Given the description of an element on the screen output the (x, y) to click on. 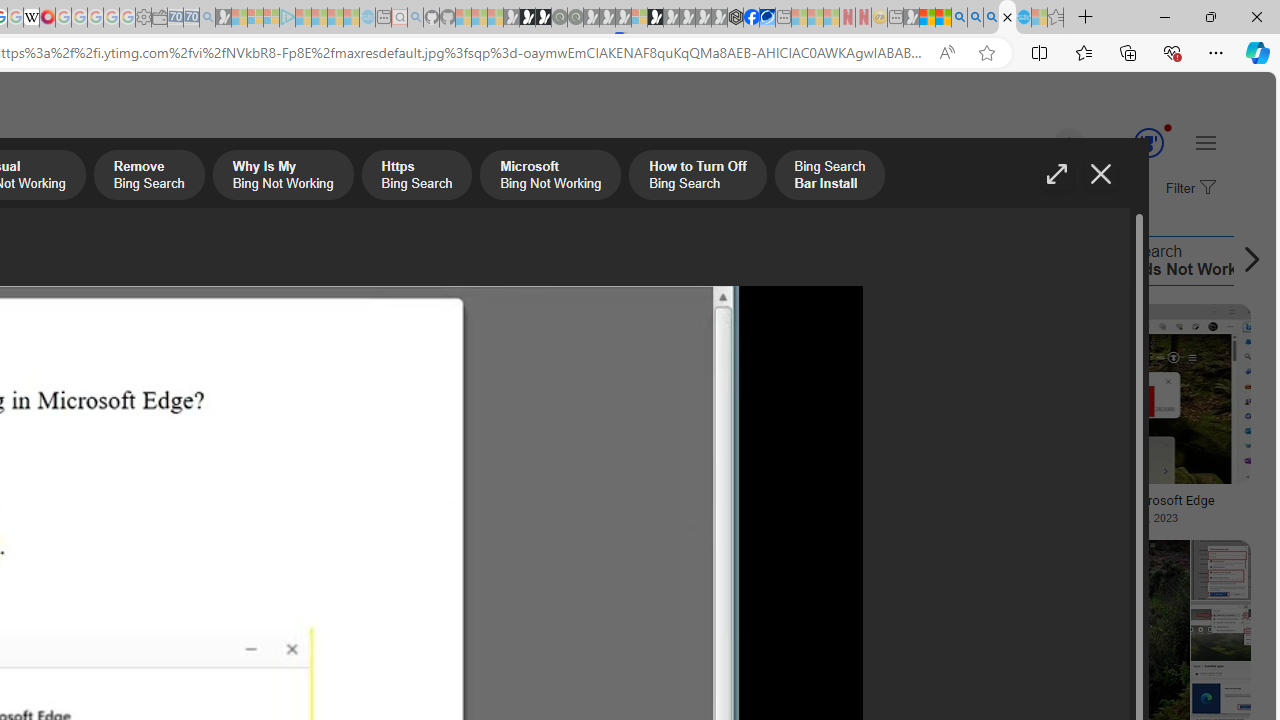
Future Focus Report 2024 - Sleeping (575, 17)
Class: item col (928, 260)
How to Get Rid of Bing Search (848, 260)
Fix Bing Search Not Working In Microsoft Edge (1093, 500)
Microsoft Bing Not Working (141, 260)
2009 Bing officially replaced Live Search on June 3 - Search (975, 17)
